Given the description of an element on the screen output the (x, y) to click on. 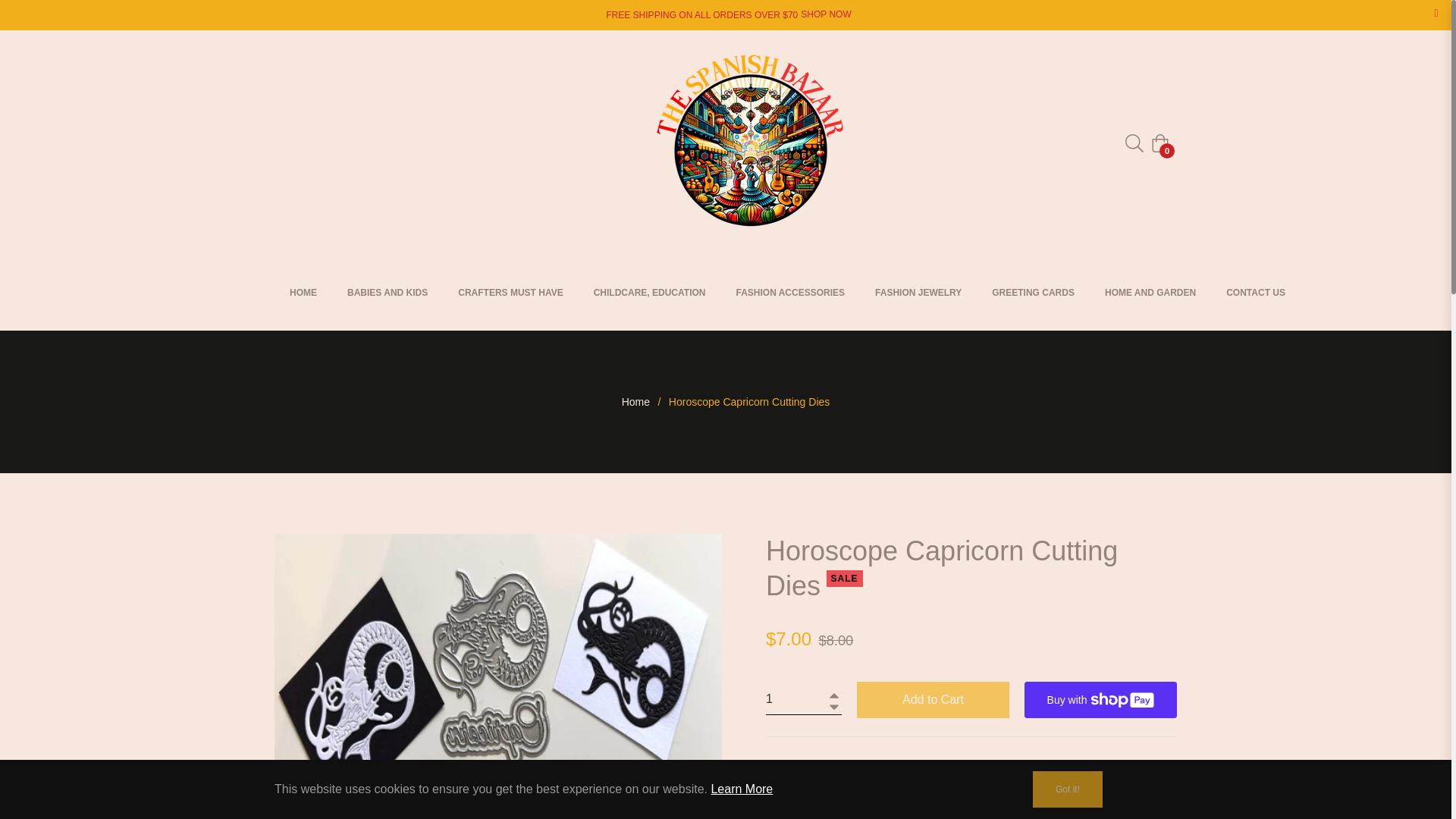
FASHION ACCESSORIES (790, 293)
FASHION JEWELRY (918, 293)
Home (636, 401)
BABIES AND KIDS (386, 293)
GREETING CARDS (1032, 293)
1 (803, 699)
CRAFTERS MUST HAVE (510, 293)
SHOP NOW (825, 15)
Shopping Cart (1160, 143)
CHILDCARE, EDUCATION (649, 293)
